Given the description of an element on the screen output the (x, y) to click on. 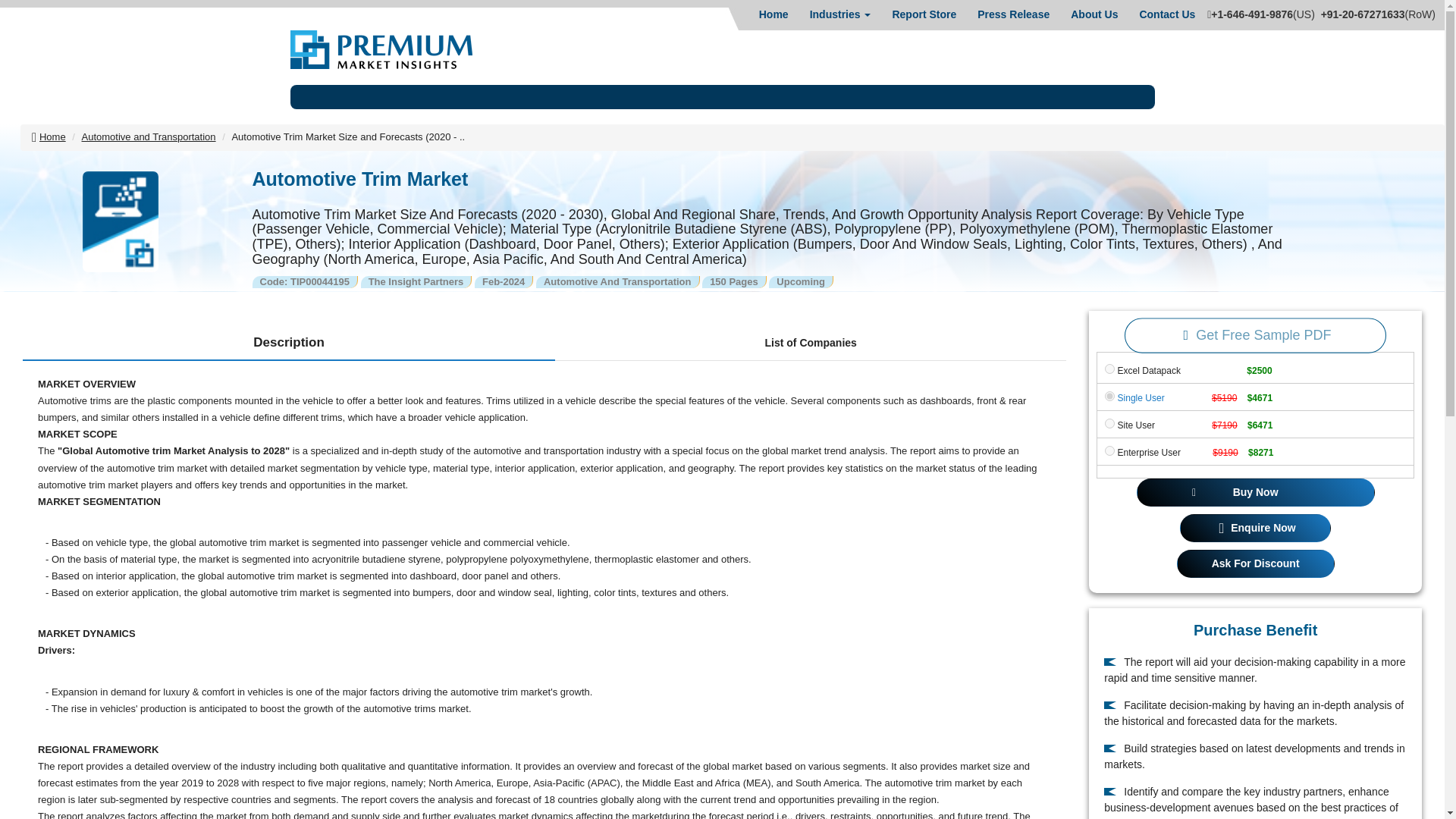
Industries (839, 14)
Home (773, 14)
Press Release (1012, 14)
About Us (1094, 14)
Buy Now (1255, 492)
Report Store (923, 14)
Contact Us (1166, 14)
Logo (380, 48)
